Given the description of an element on the screen output the (x, y) to click on. 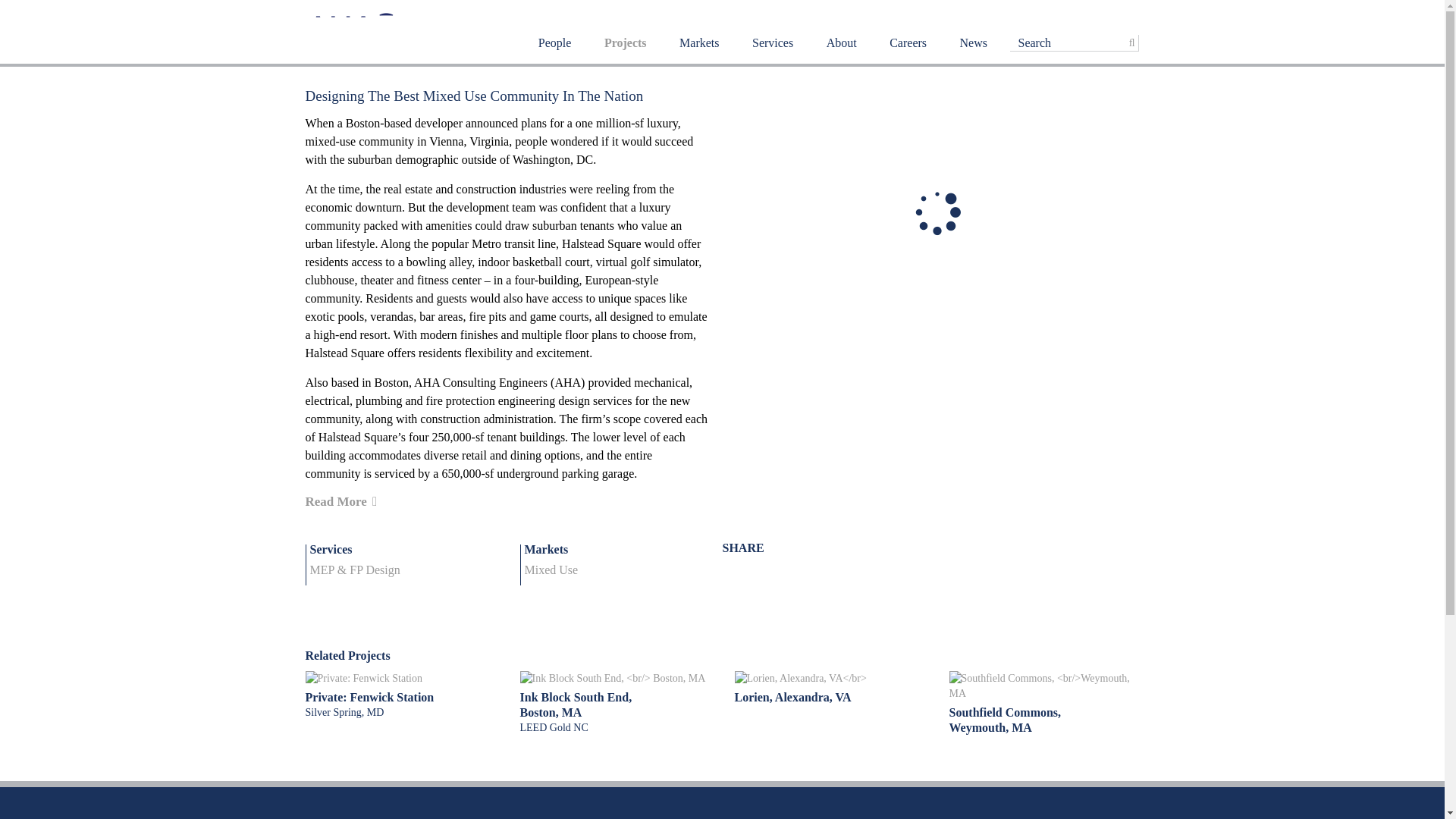
Mixed Use (551, 569)
Services (772, 57)
Markets (699, 57)
SHARE (742, 547)
Read More (340, 501)
Projects (625, 57)
